Given the description of an element on the screen output the (x, y) to click on. 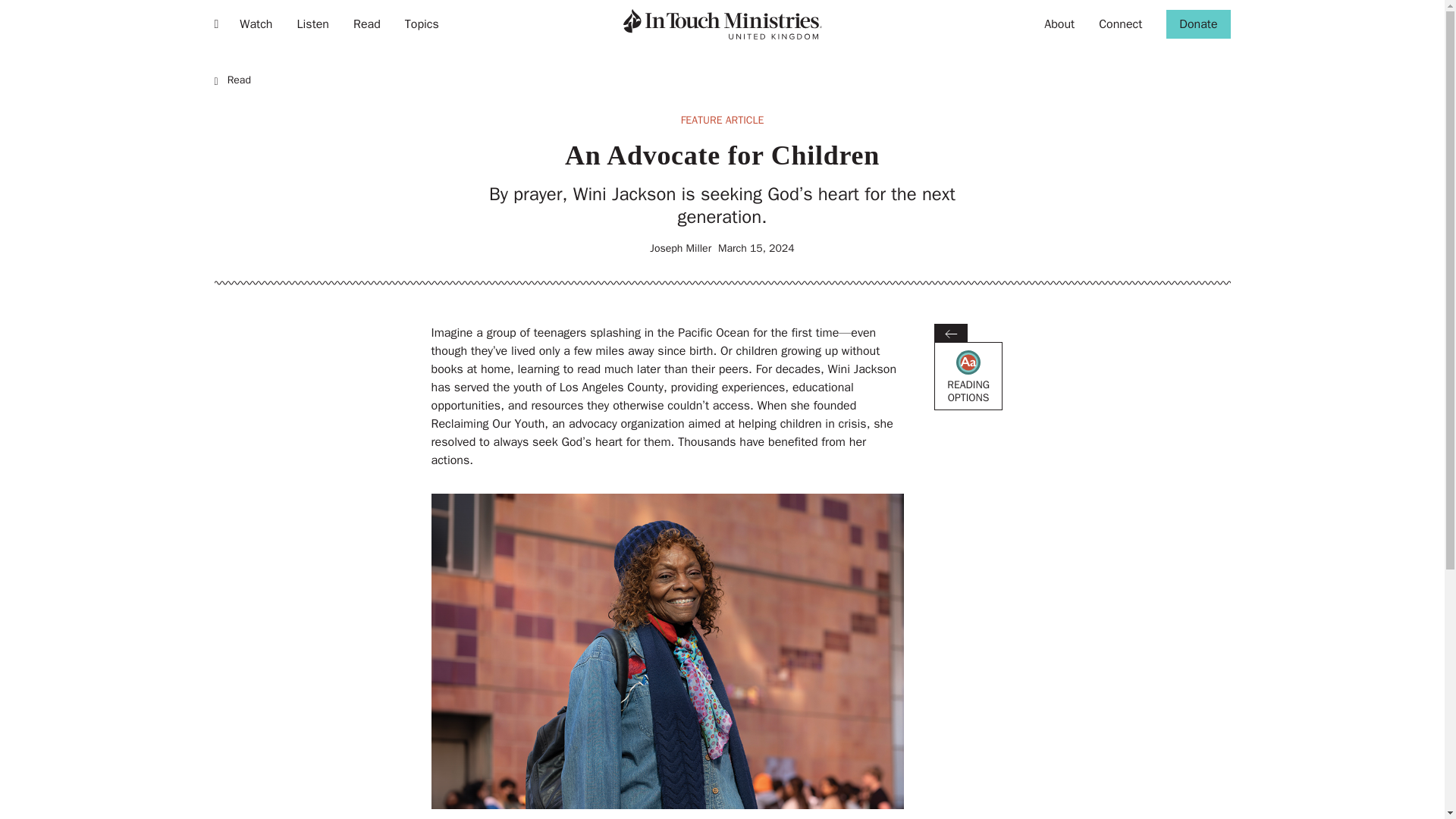
Photograph by Ivan Kashinsky (722, 24)
Read (1059, 24)
Topics (366, 24)
Watch (422, 24)
Listen (255, 24)
